Given the description of an element on the screen output the (x, y) to click on. 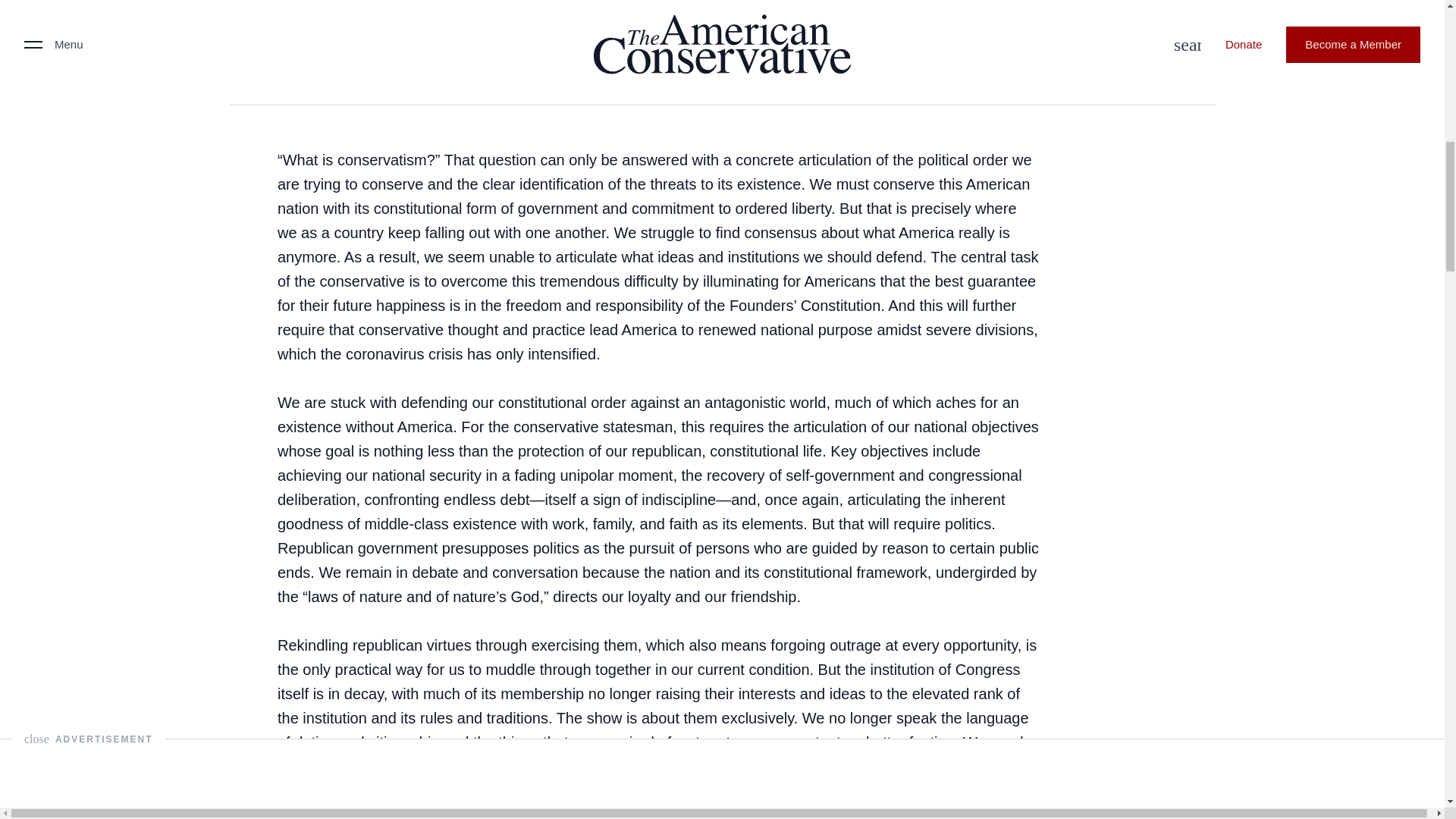
Richard M. Reinsch II (285, 60)
